Given the description of an element on the screen output the (x, y) to click on. 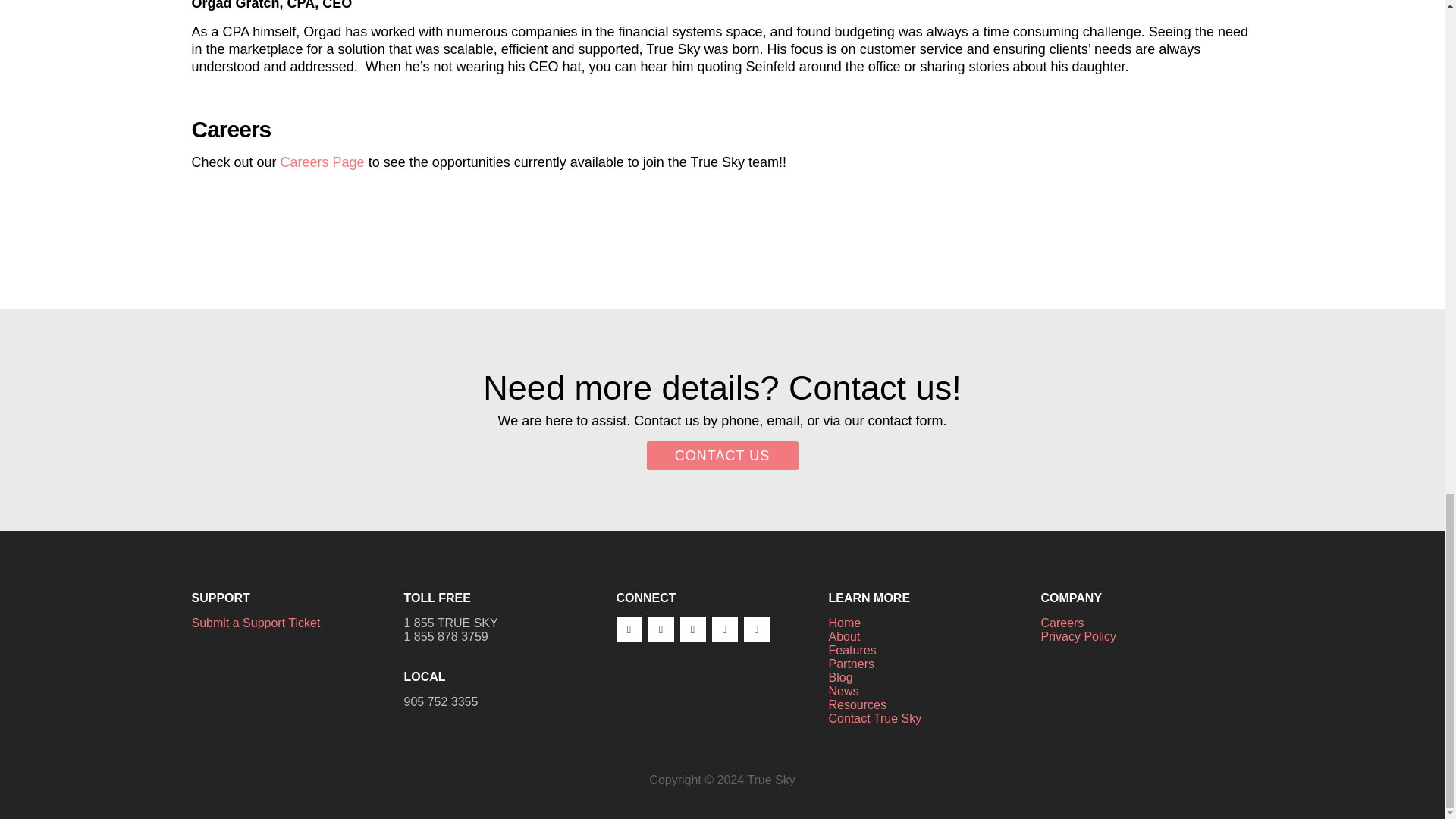
Careers Page (323, 161)
Submit a Support Ticket (255, 622)
Contact True Sky (874, 717)
Home (844, 622)
Twitter (659, 629)
Blog (839, 676)
Privacy Policy (1078, 635)
News (843, 690)
LinkedIn (691, 629)
Careers (1062, 622)
